Given the description of an element on the screen output the (x, y) to click on. 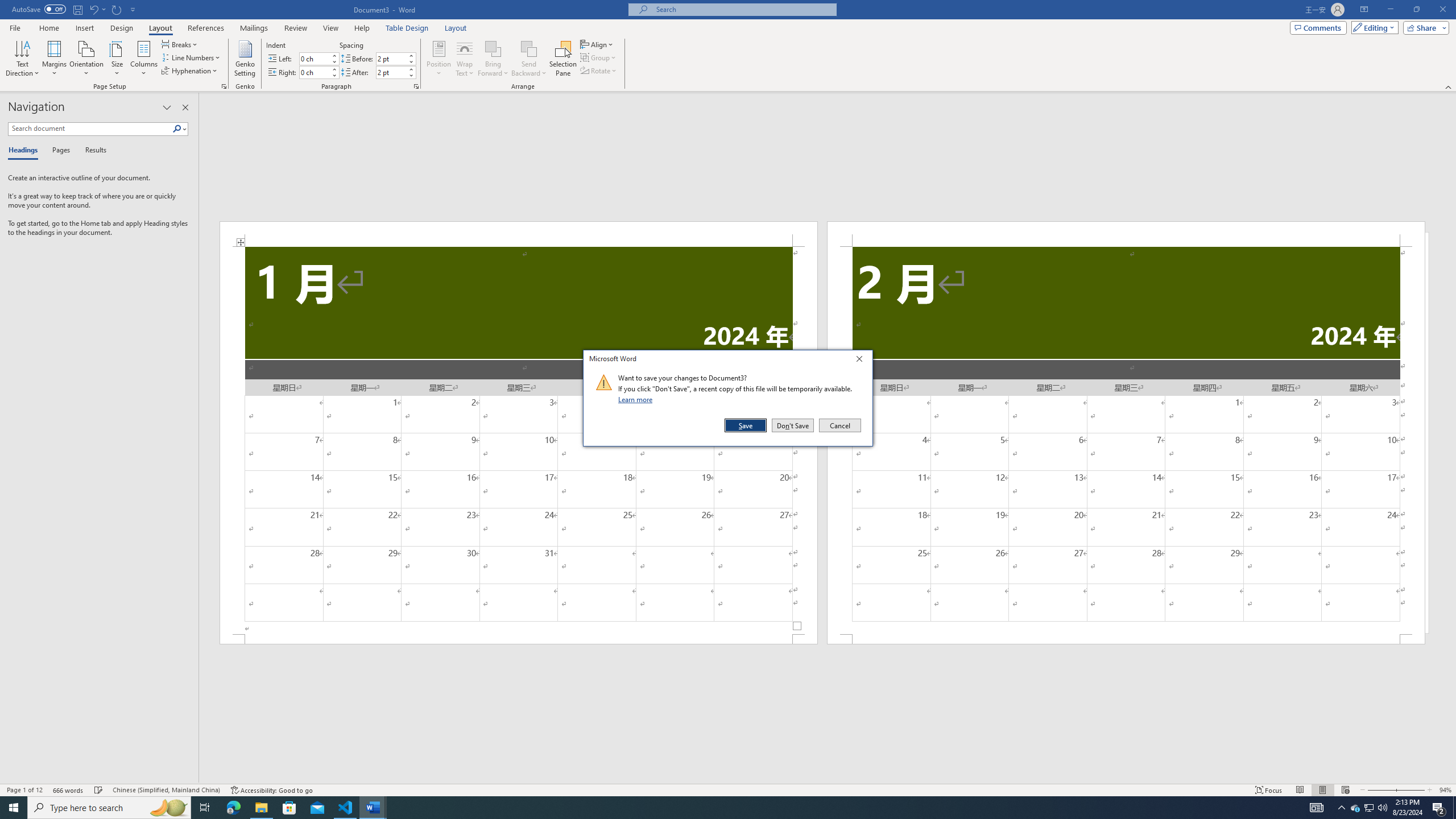
Cancel (839, 425)
Line Numbers (191, 56)
Undo Increase Indent (96, 9)
Word - 2 running windows (373, 807)
Mode (1372, 27)
Close pane (1368, 807)
File Tab (185, 107)
Rotate (15, 27)
Search highlights icon opens search home window (599, 69)
Selection Pane... (167, 807)
Indent Right (563, 58)
